Given the description of an element on the screen output the (x, y) to click on. 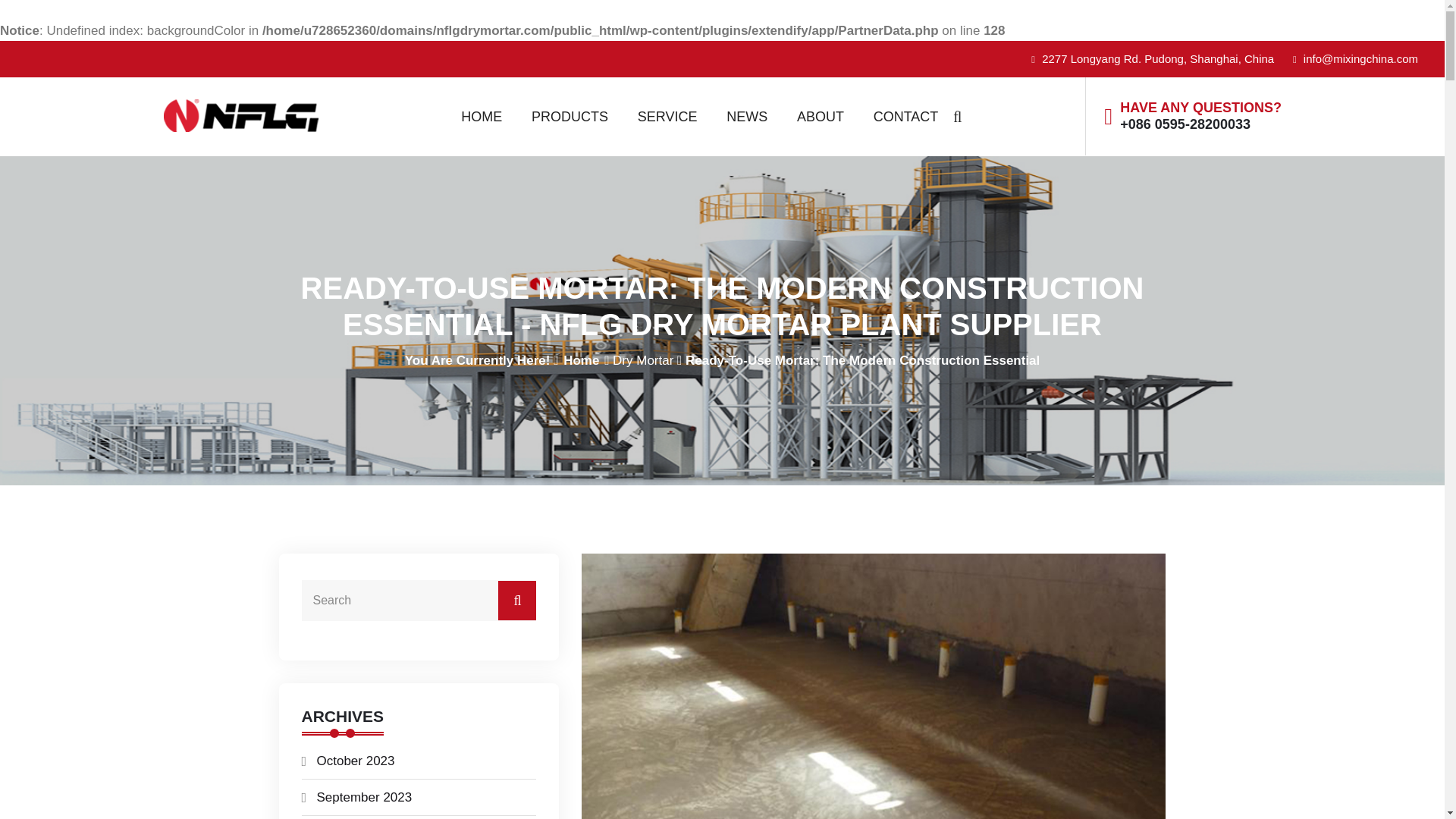
Search for: (419, 599)
September 2023 (364, 797)
PRODUCTS (569, 116)
Home (580, 359)
HOME (481, 116)
SERVICE (667, 116)
NFLG Dry Mortar Plant Supplier (294, 115)
ABOUT (820, 116)
NEWS (746, 116)
Dry Mortar (642, 359)
